Given the description of an element on the screen output the (x, y) to click on. 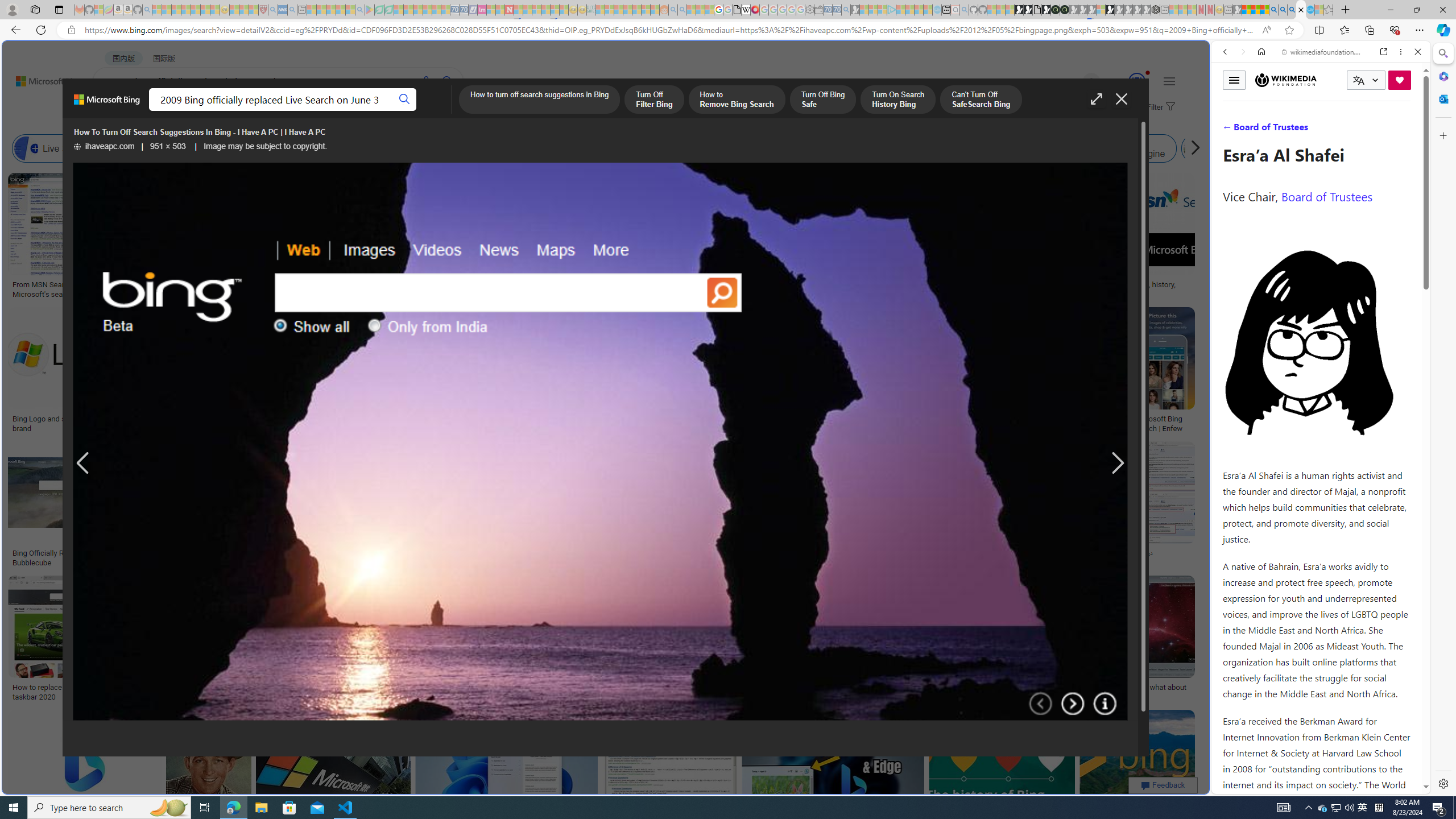
Close image (1121, 99)
Previous image result (82, 463)
Wiktionary (1315, 380)
utah sues federal government - Search - Sleeping (291, 9)
Donate now (1399, 80)
Wikimedia Foundation (1285, 79)
